Given the description of an element on the screen output the (x, y) to click on. 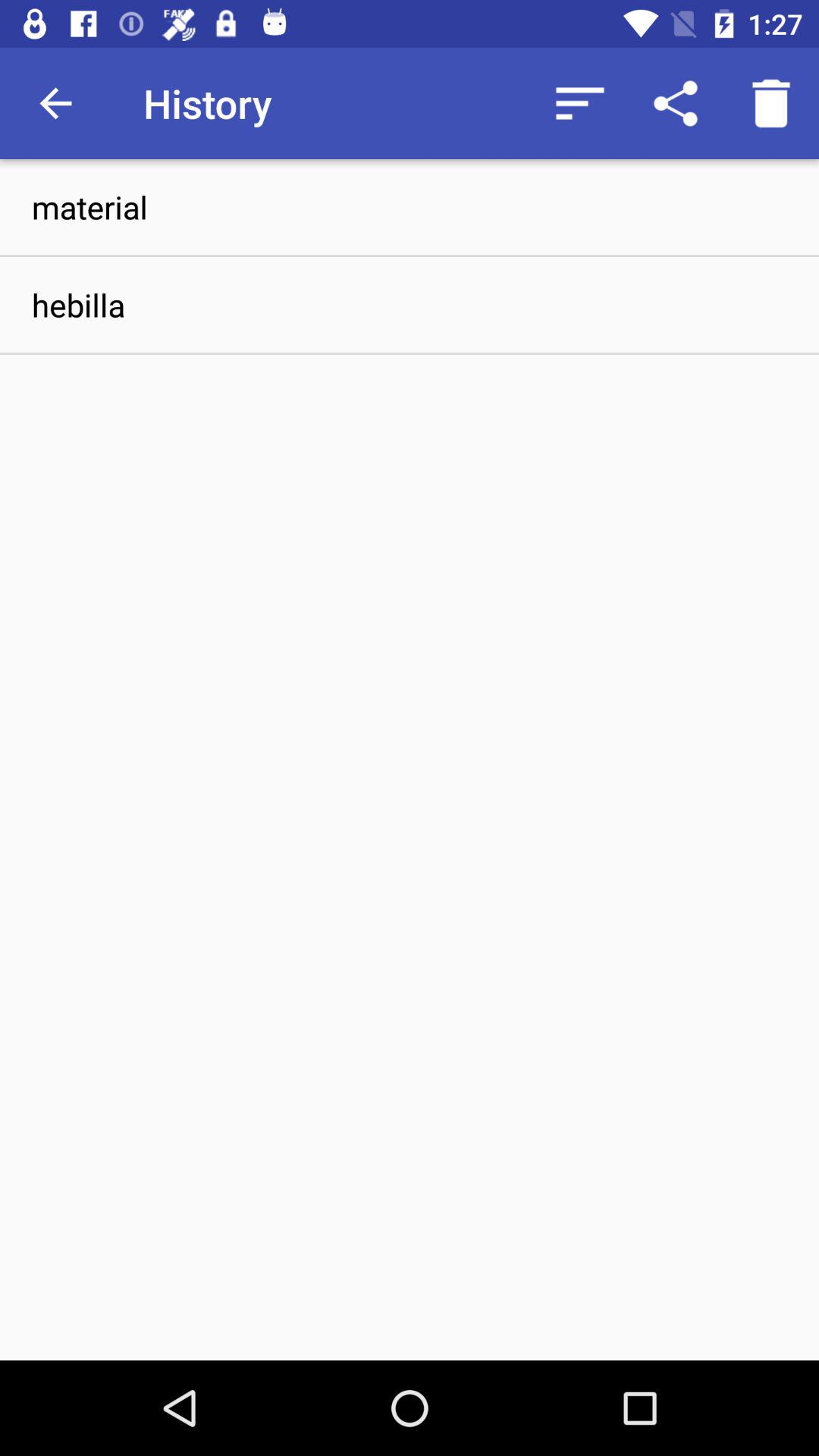
select the item to the left of history (55, 103)
